Given the description of an element on the screen output the (x, y) to click on. 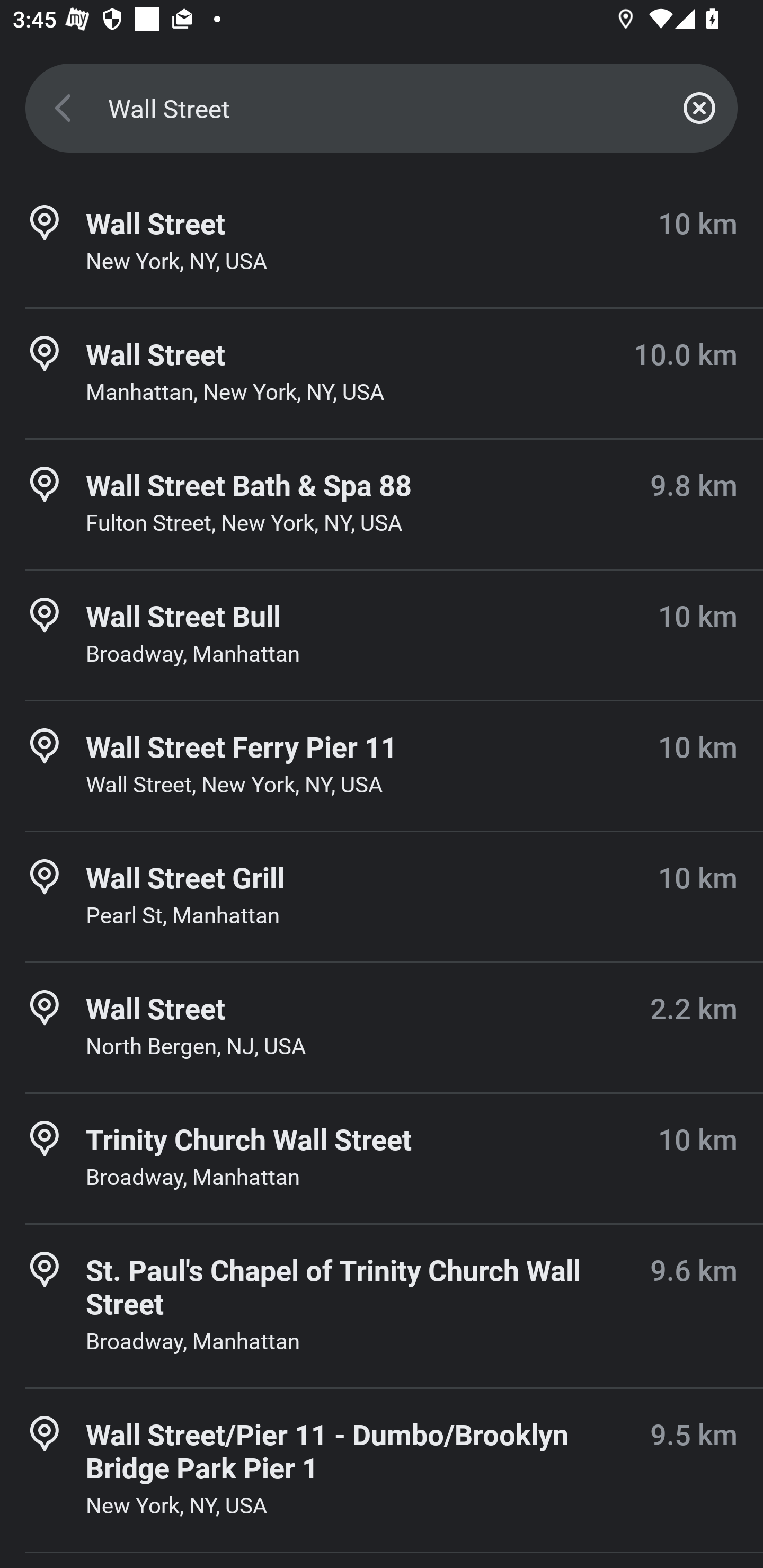
Wall Street SEARCH_SCREEN_SEARCH_FIELD (381, 108)
Wall Street 10 km New York, NY, USA (381, 242)
Wall Street 10.0 km Manhattan, New York, NY, USA (381, 372)
Wall Street Bull 10 km Broadway, Manhattan (381, 634)
Wall Street Grill 10 km Pearl St, Manhattan (381, 896)
Wall Street 2.2 km North Bergen, NJ, USA (381, 1027)
